Given the description of an element on the screen output the (x, y) to click on. 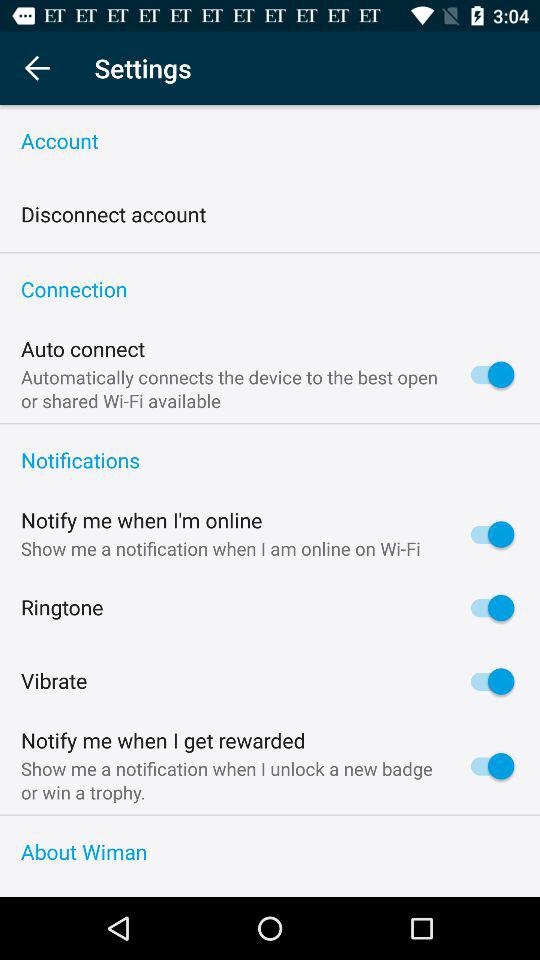
choose item above notify me when item (270, 461)
